Given the description of an element on the screen output the (x, y) to click on. 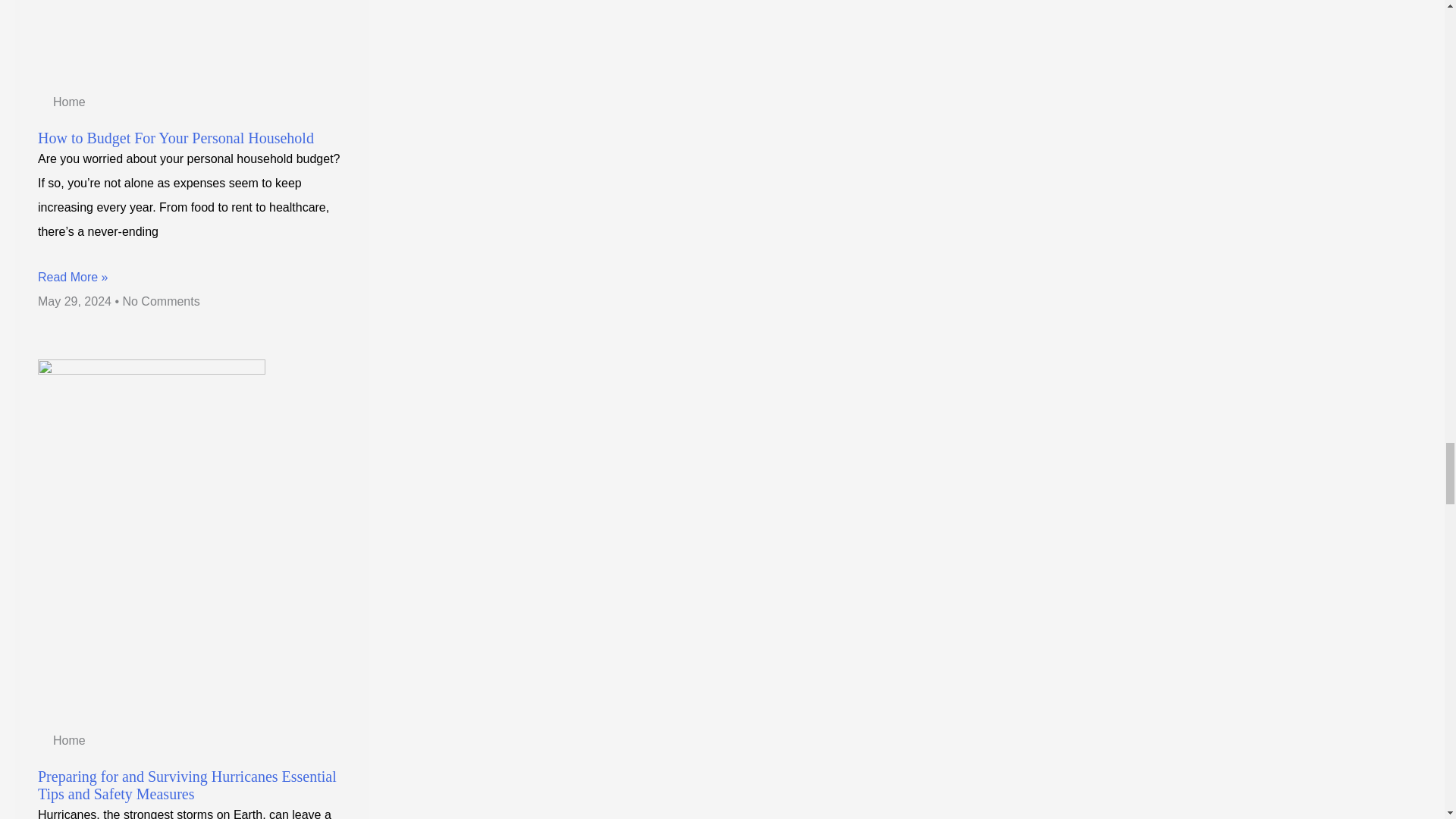
How to Budget For Your Personal Household (175, 137)
